Given the description of an element on the screen output the (x, y) to click on. 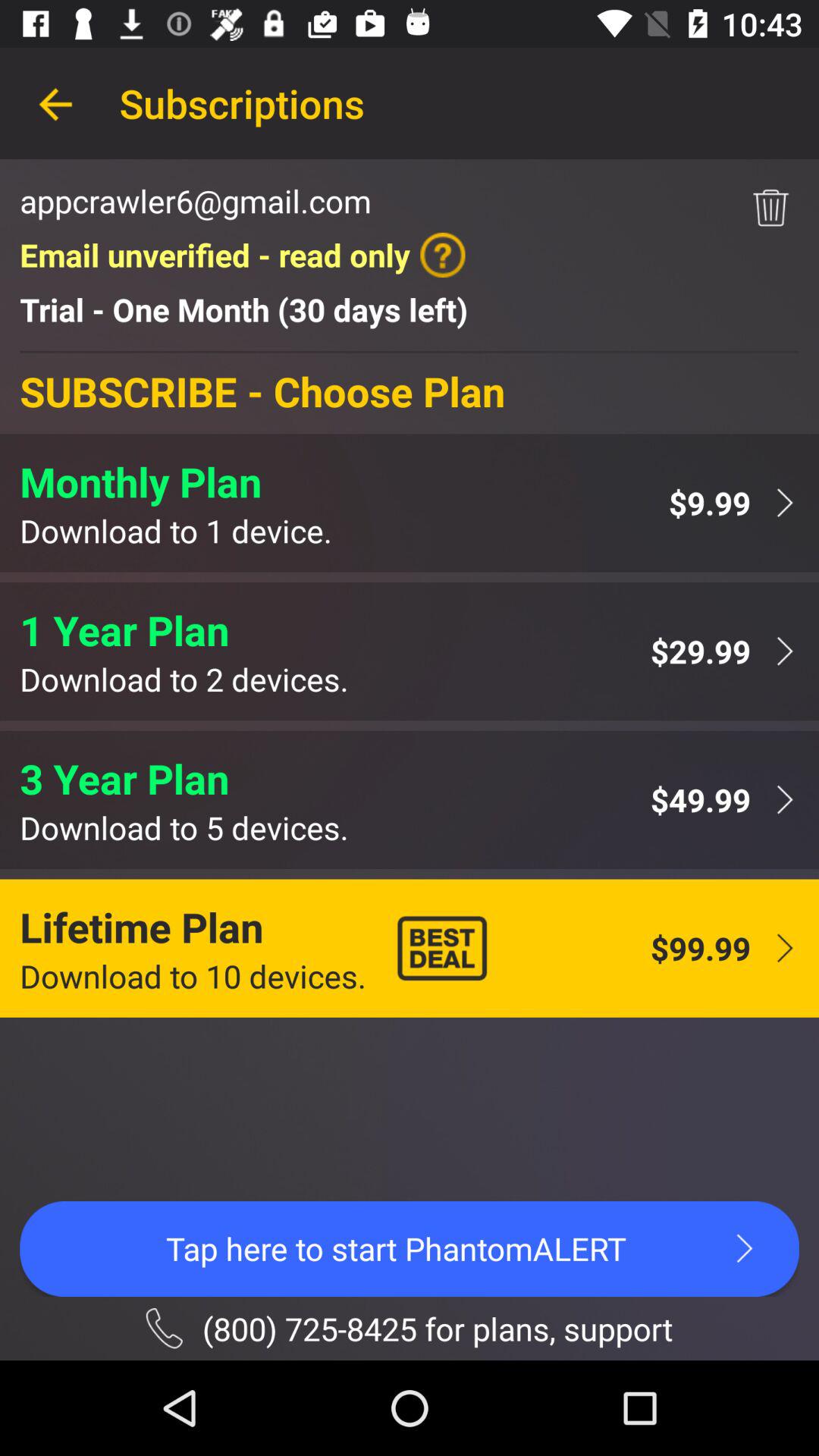
launch the tap here to (409, 1248)
